Given the description of an element on the screen output the (x, y) to click on. 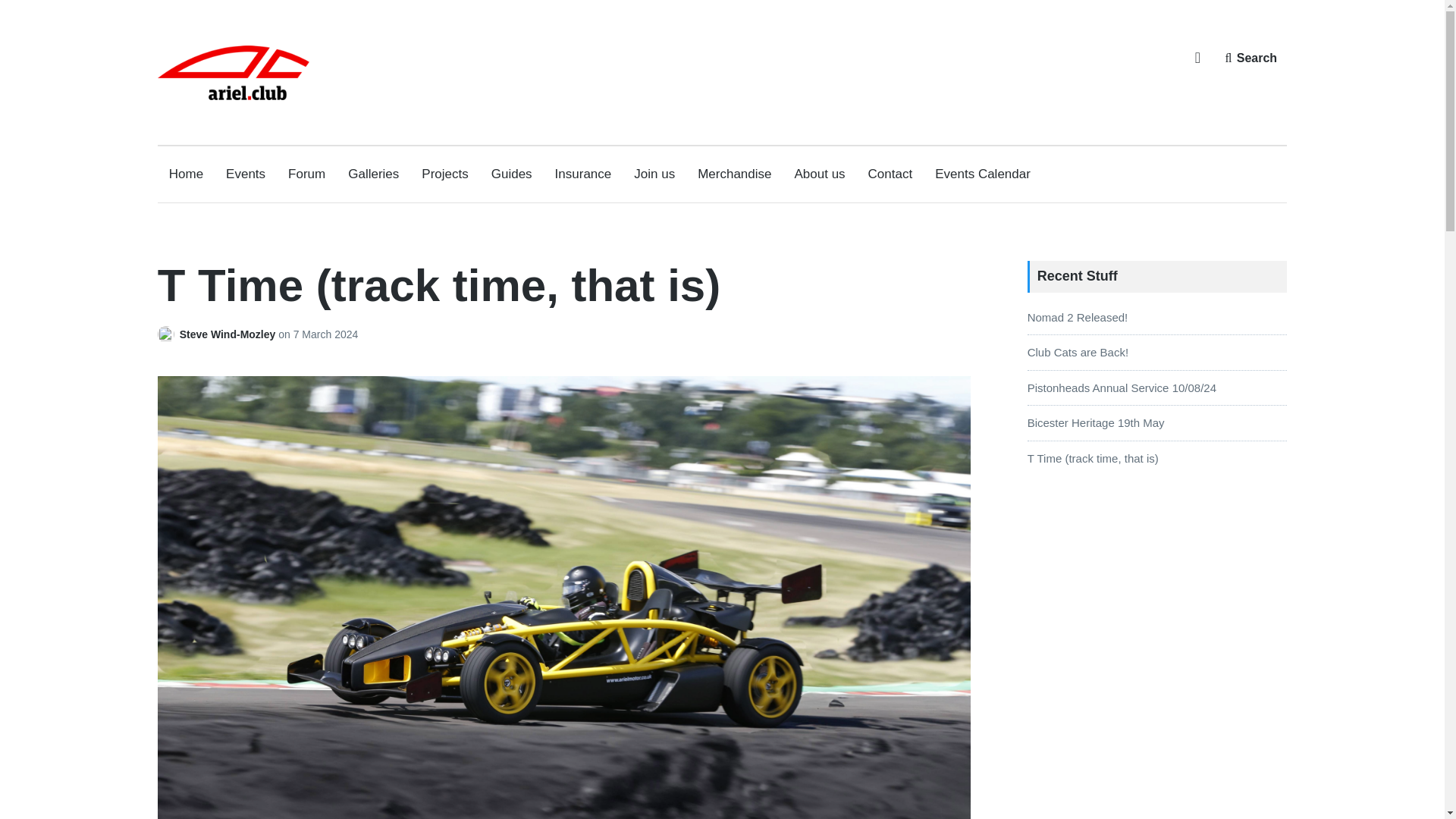
Insurance (582, 174)
Contact (889, 174)
Galleries (372, 174)
About us (818, 174)
Forum (306, 174)
Home (185, 174)
Projects (444, 174)
Posts by Steve Wind-Mozley (168, 334)
Steve Wind-Mozley (229, 334)
Search (1250, 57)
Events (244, 174)
Events Calendar (982, 174)
Guides (512, 174)
Merchandise (734, 174)
Join us (654, 174)
